Given the description of an element on the screen output the (x, y) to click on. 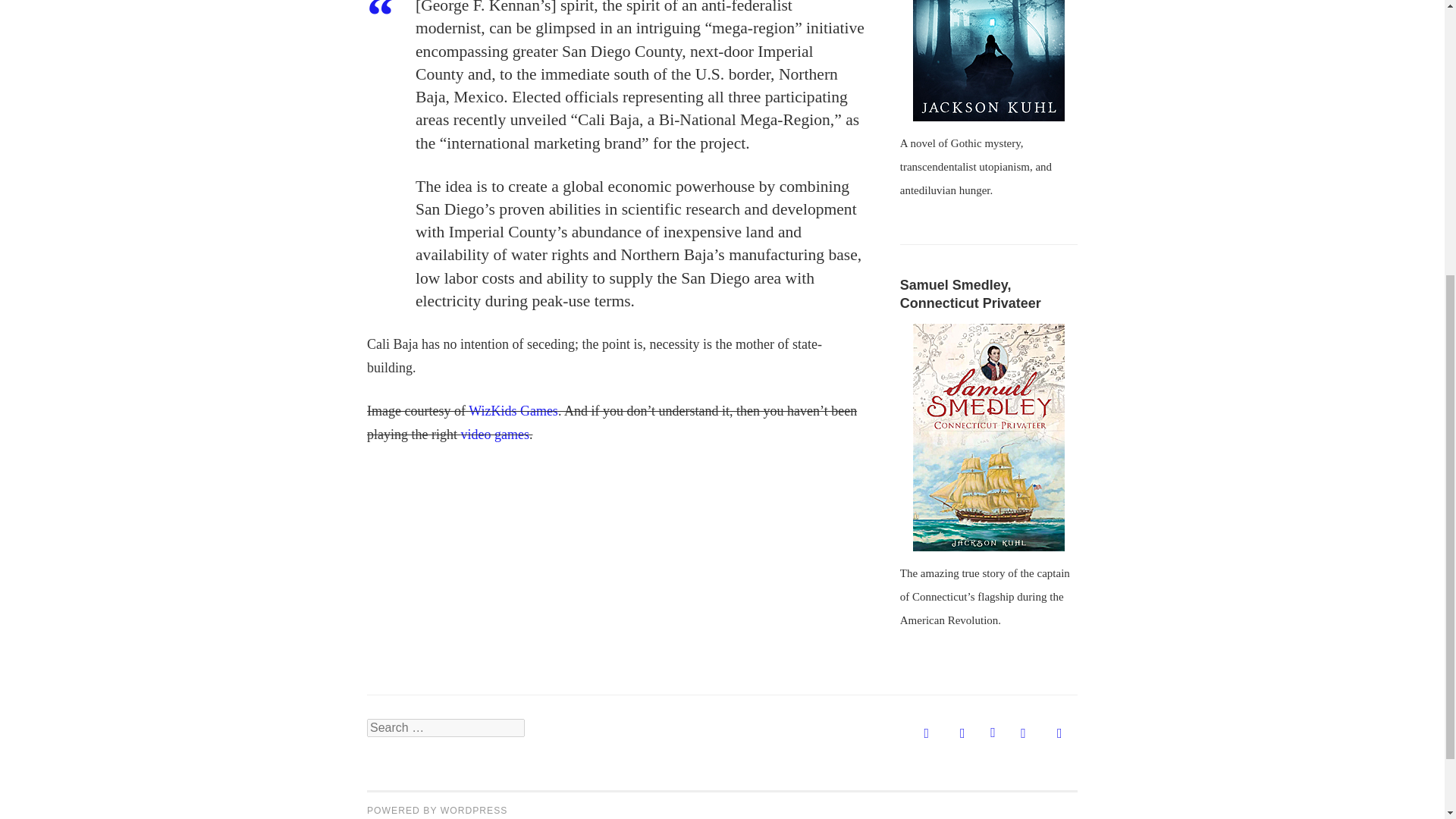
Instagram (926, 733)
Facebook (1024, 733)
Viber (962, 733)
Default Label (1059, 733)
POWERED BY WORDPRESS (436, 810)
video games (494, 434)
WizKids Games (512, 410)
